Given the description of an element on the screen output the (x, y) to click on. 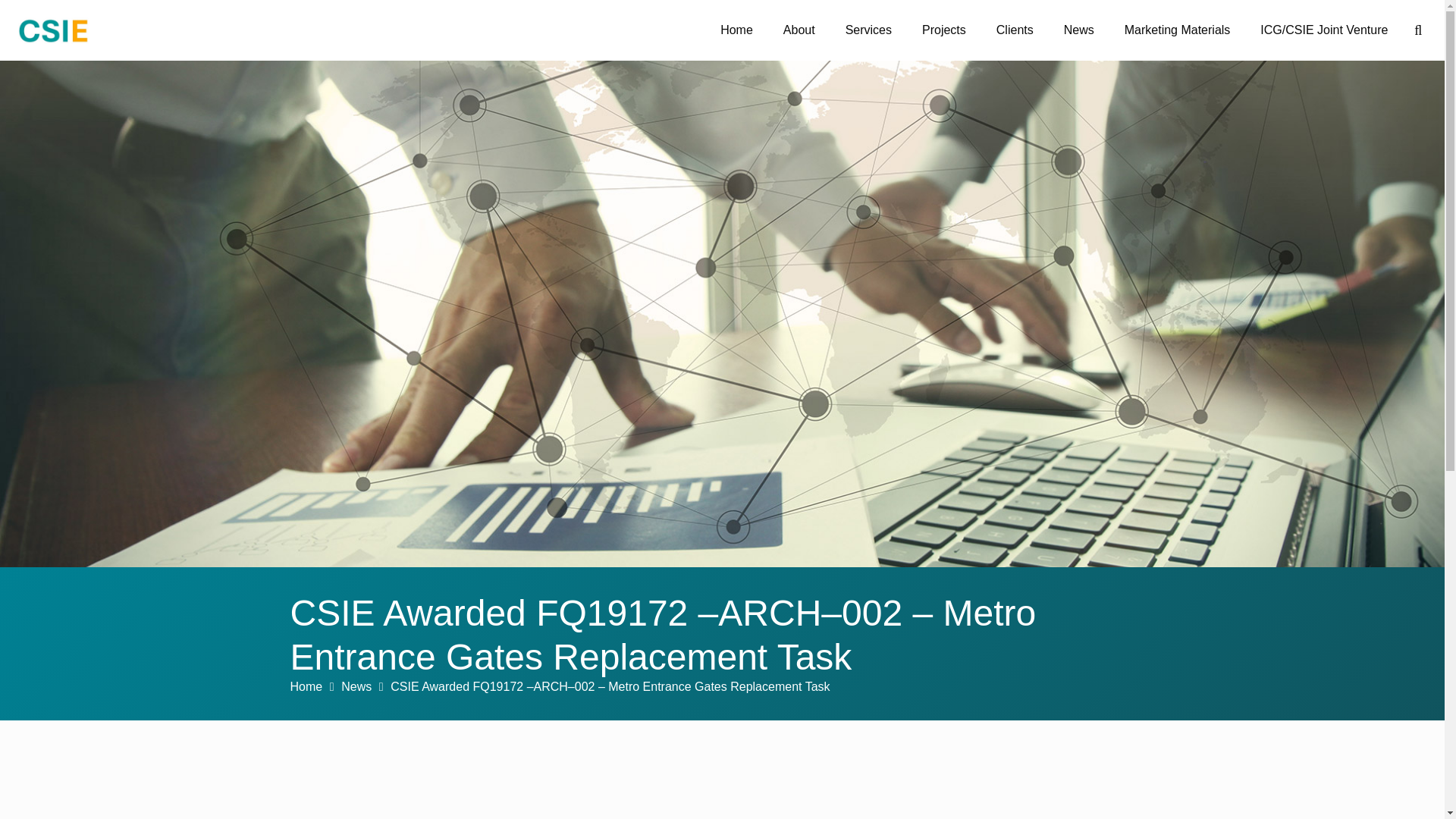
Projects (944, 30)
Marketing Materials (1177, 30)
News (355, 686)
Clients (1014, 30)
About (798, 30)
Home (305, 686)
Services (868, 30)
News (1078, 30)
Home (736, 30)
